Given the description of an element on the screen output the (x, y) to click on. 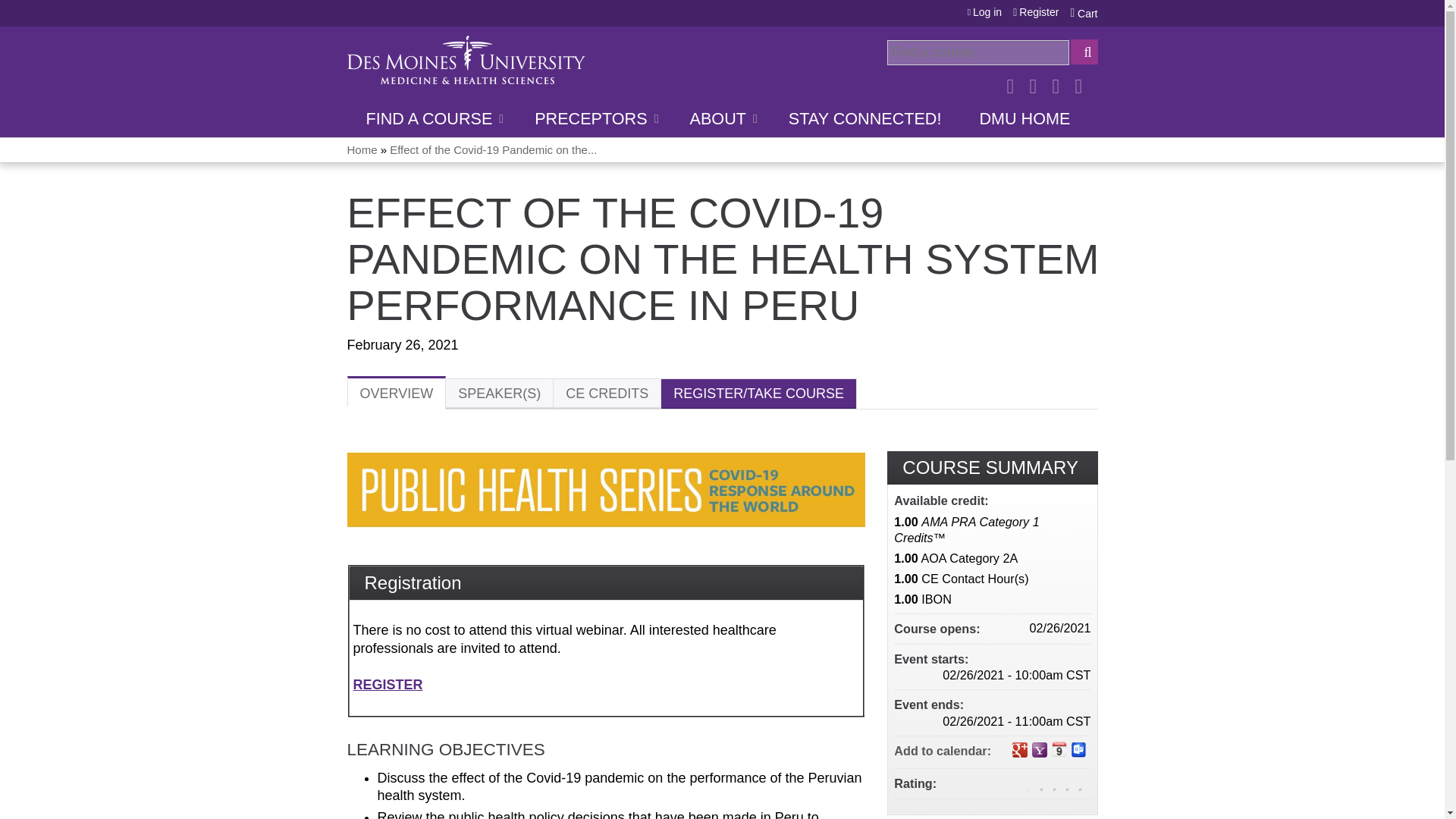
Cart (1083, 12)
Home (466, 59)
Search (1083, 51)
Register (1035, 12)
Log in (985, 12)
Search (1083, 51)
